Given the description of an element on the screen output the (x, y) to click on. 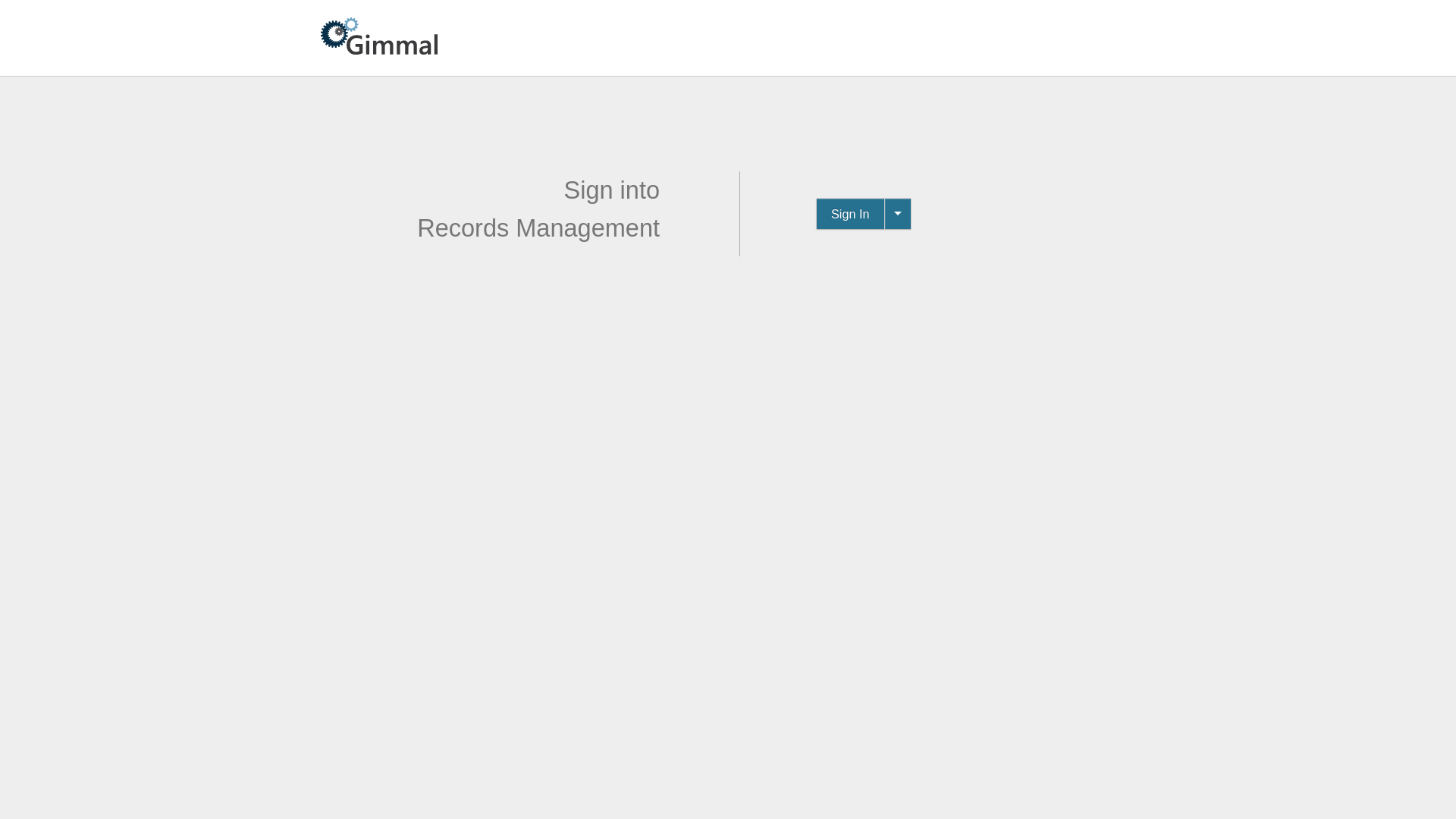
Sign In Element type: text (849, 213)
